Given the description of an element on the screen output the (x, y) to click on. 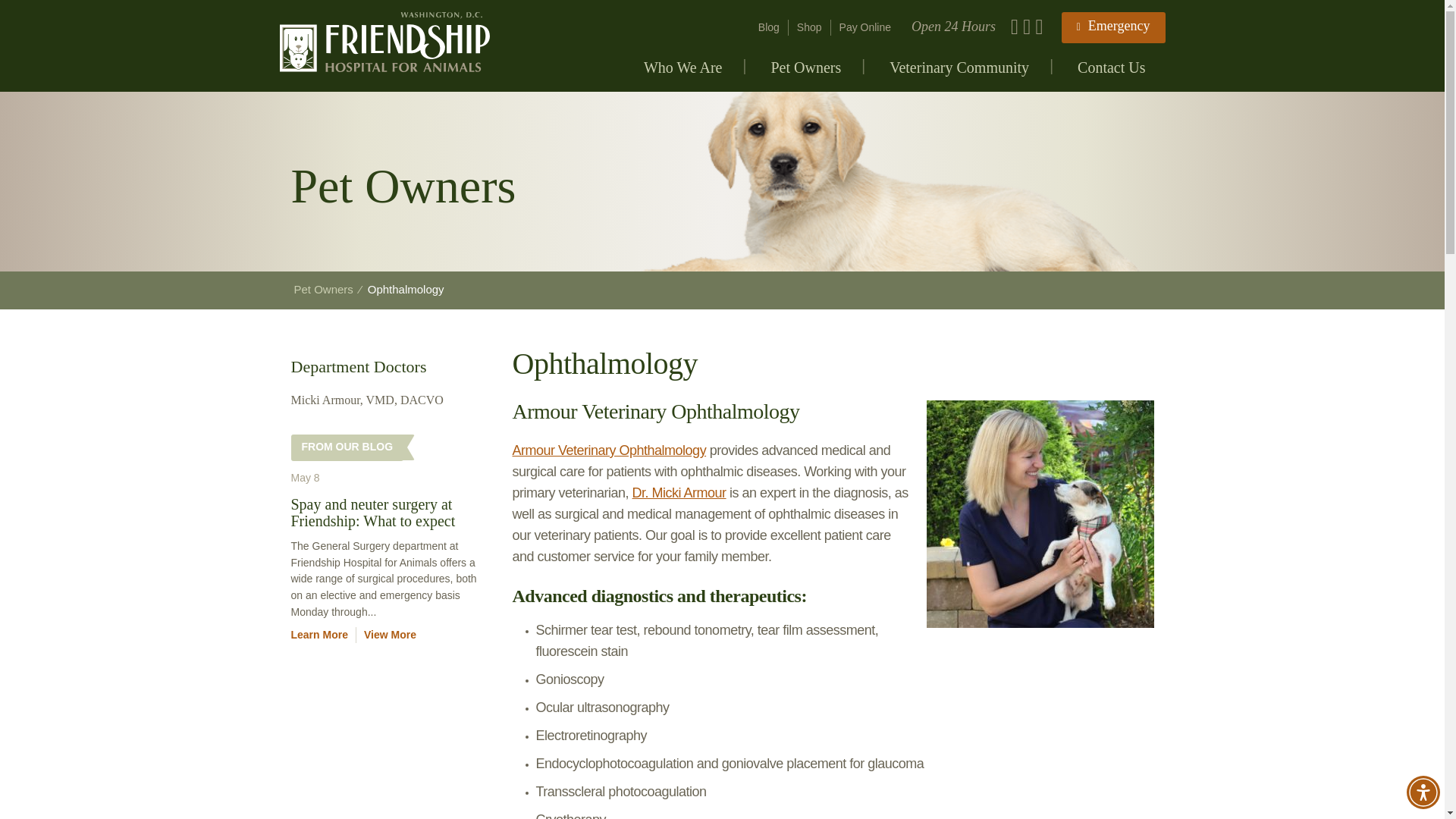
Pet Owners (805, 73)
Veterinary Community (959, 73)
Go to Pet Owners. (323, 288)
Who We Are (683, 73)
Accessibility Menu (1422, 792)
